Given the description of an element on the screen output the (x, y) to click on. 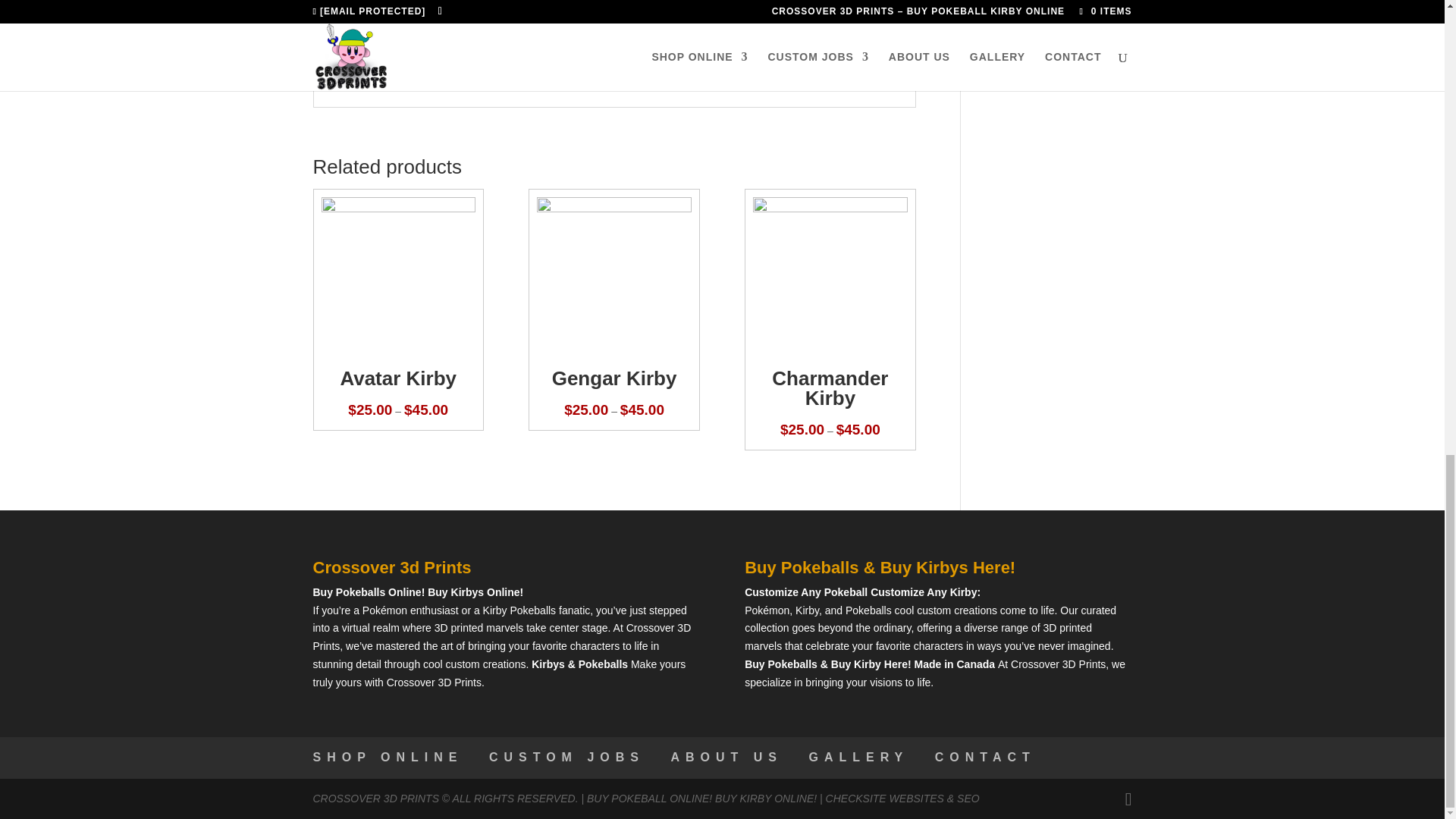
SHOP ONLINE (388, 757)
CUSTOM JOBS (567, 757)
ABOUT US (726, 757)
